Given the description of an element on the screen output the (x, y) to click on. 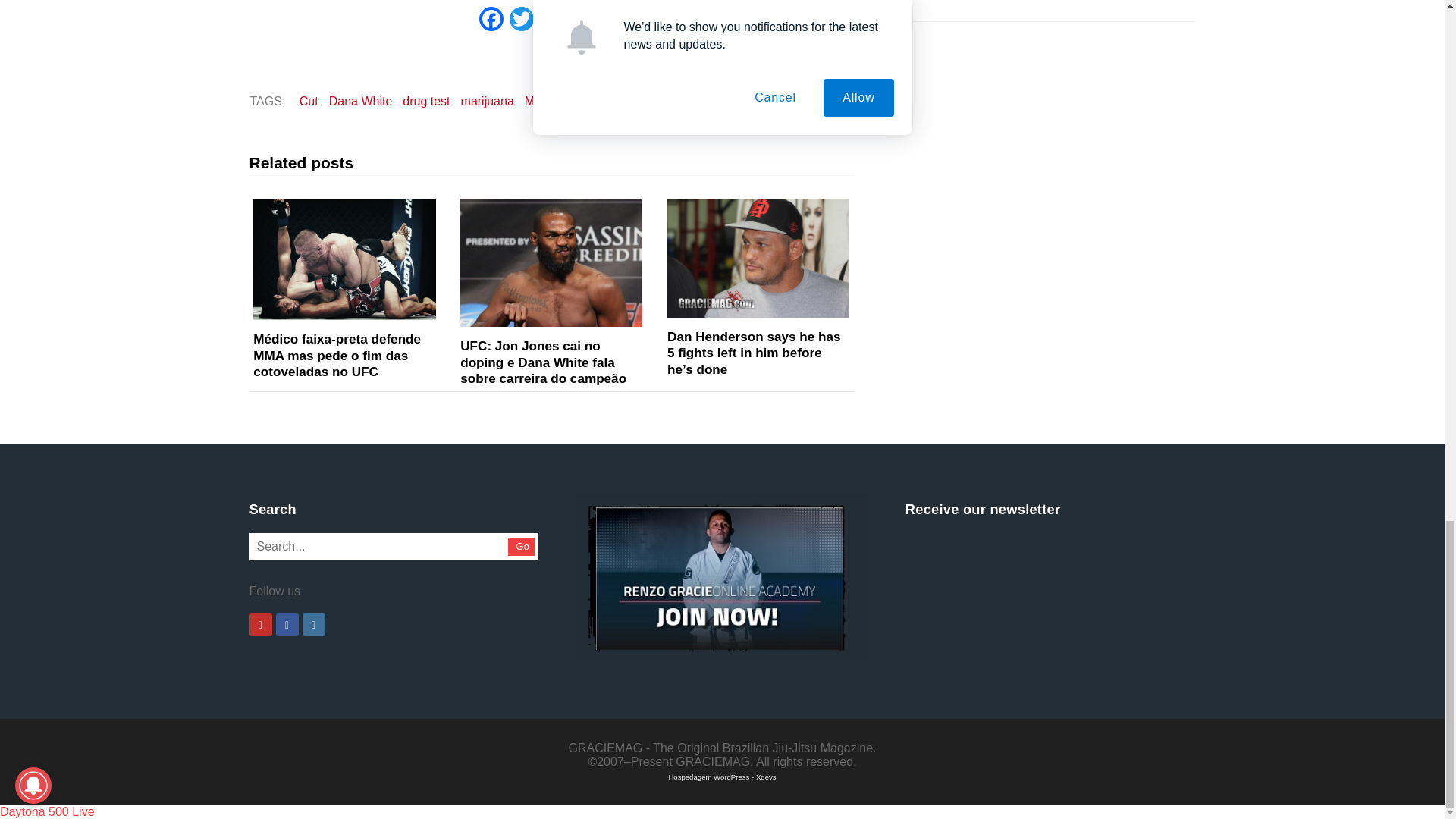
Facebook (491, 20)
UFC 158 (685, 100)
marijuana (487, 100)
Email (581, 20)
Twitter (521, 20)
Nick Diaz (588, 100)
UFC (638, 100)
Dana White (360, 100)
Email (581, 20)
WhatsApp (552, 20)
MMA (538, 100)
Share (611, 20)
Cut (308, 100)
drug test (425, 100)
Facebook (491, 20)
